Given the description of an element on the screen output the (x, y) to click on. 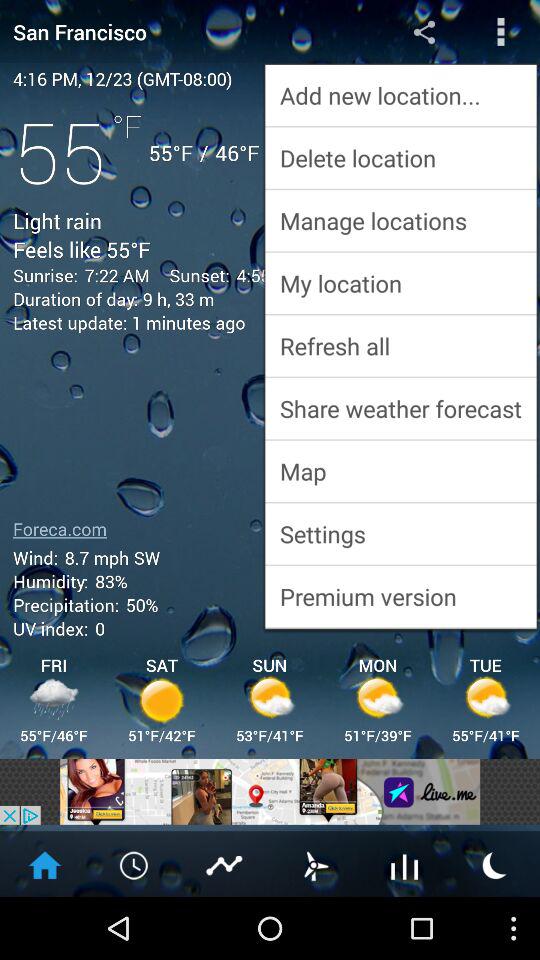
scroll to delete location (400, 157)
